Given the description of an element on the screen output the (x, y) to click on. 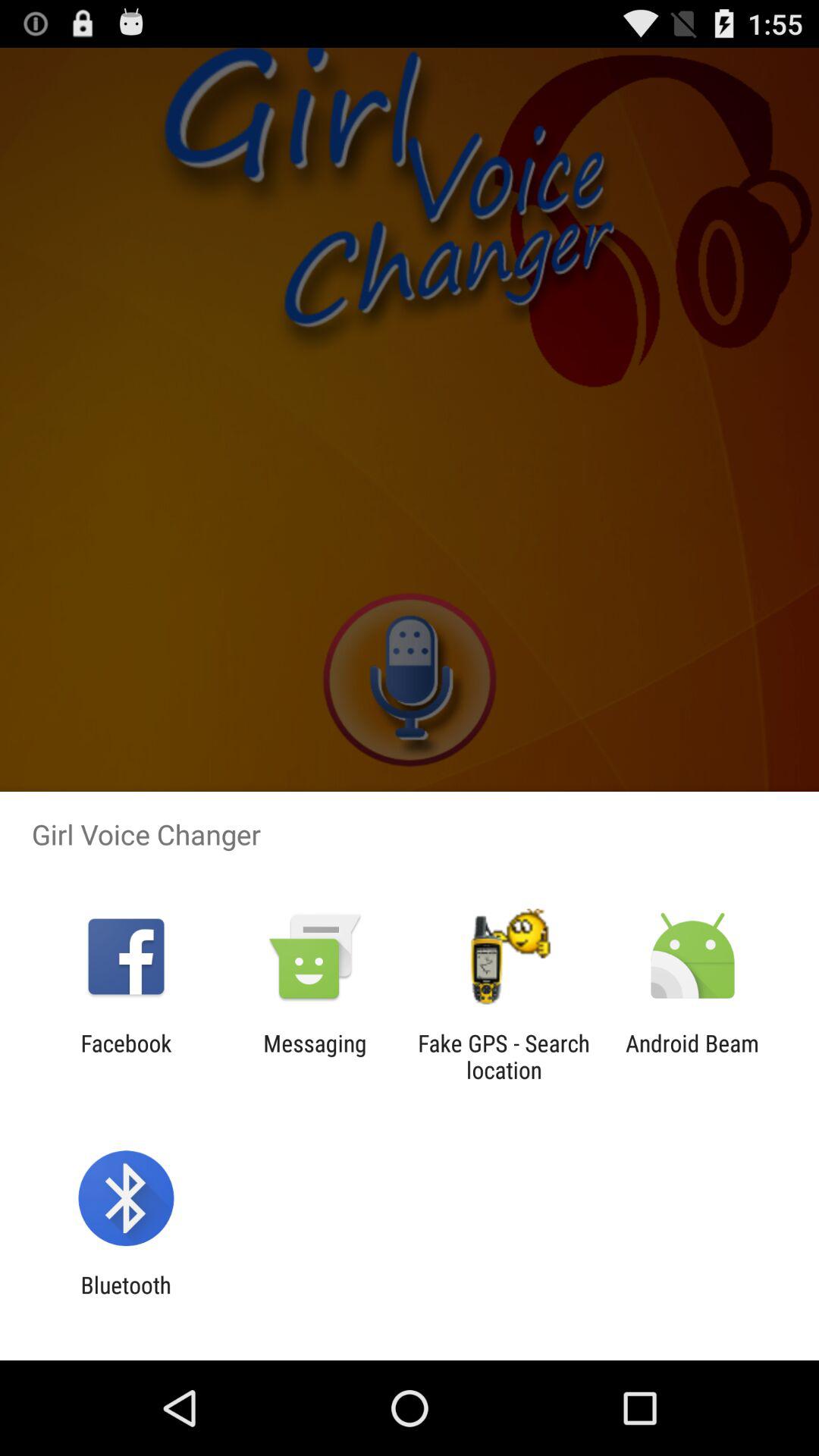
choose the item to the right of the fake gps search app (692, 1056)
